Given the description of an element on the screen output the (x, y) to click on. 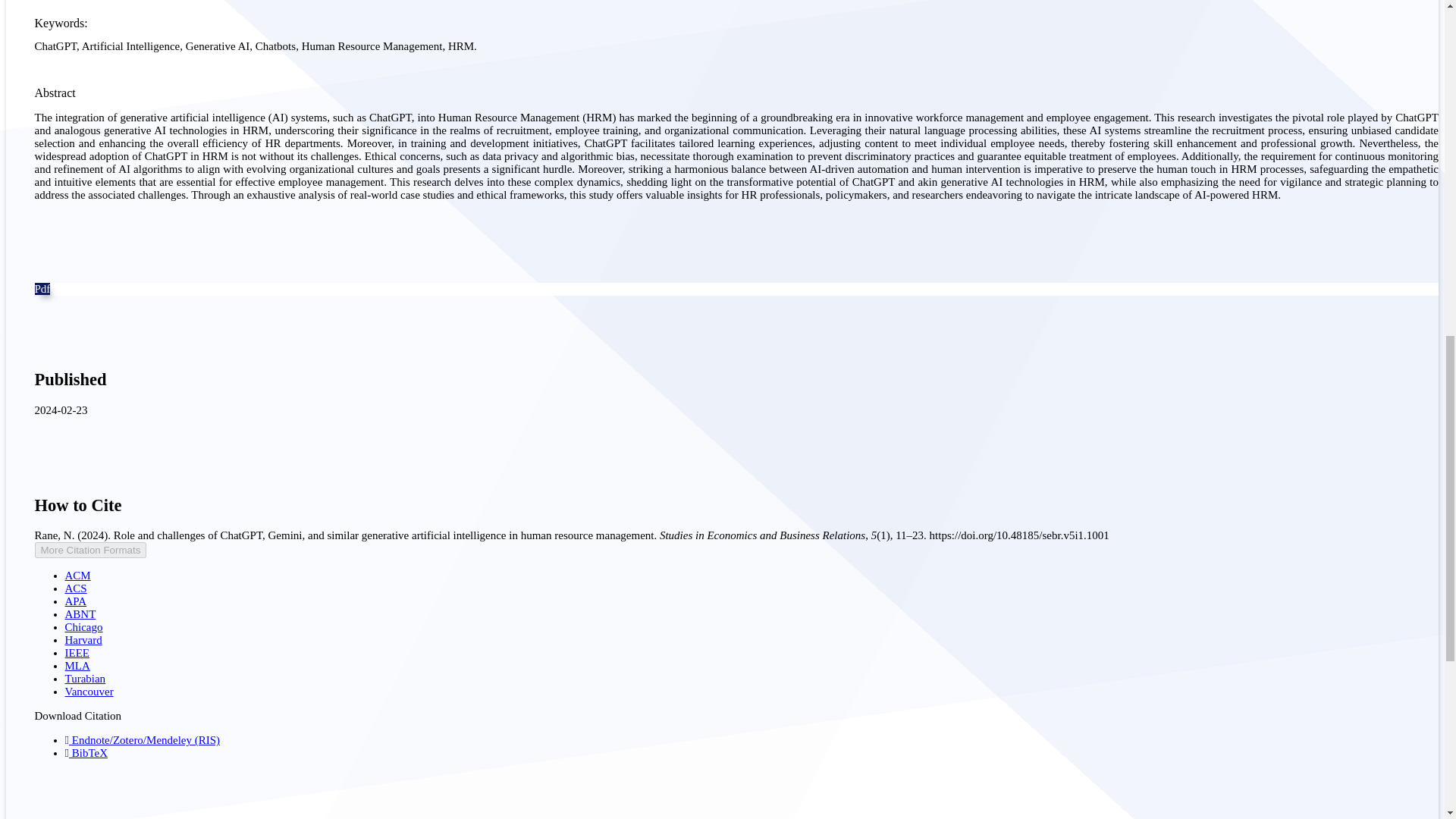
APA (76, 601)
ACM (77, 575)
More Citation Formats (90, 549)
Harvard (83, 639)
Pdf (42, 288)
ACS (76, 588)
Chicago (84, 626)
ABNT (80, 613)
IEEE (76, 653)
